Given the description of an element on the screen output the (x, y) to click on. 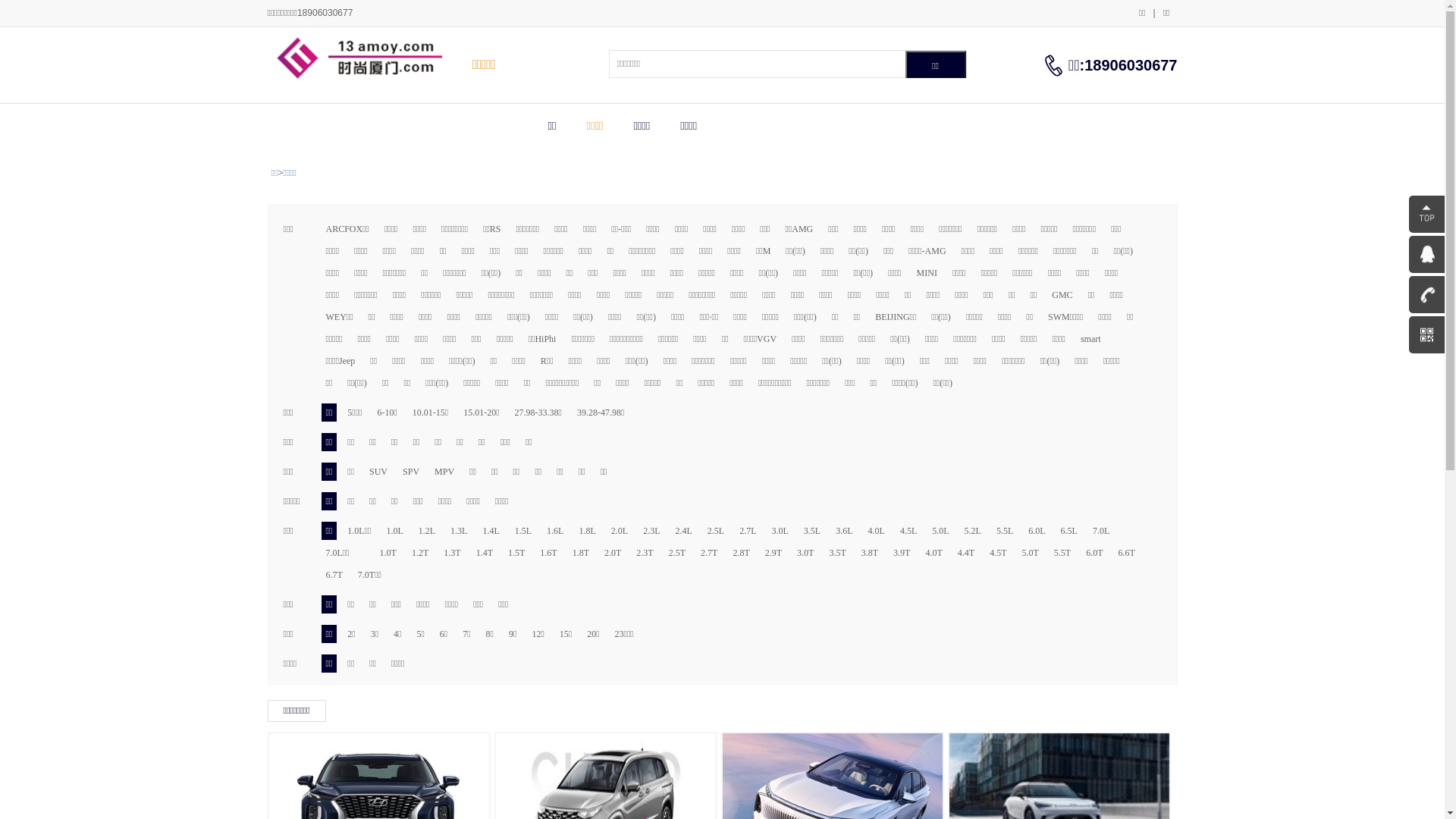
2.7T Element type: text (708, 552)
MPV Element type: text (443, 471)
4.4T Element type: text (966, 552)
1.4T Element type: text (484, 552)
6.6T Element type: text (1126, 552)
1.2T Element type: text (420, 552)
2.0L Element type: text (619, 530)
2.4L Element type: text (683, 530)
1.6L Element type: text (554, 530)
5.2L Element type: text (972, 530)
1.3T Element type: text (451, 552)
2.0T Element type: text (612, 552)
SPV Element type: text (410, 471)
6.0L Element type: text (1036, 530)
5.0T Element type: text (1029, 552)
3.0L Element type: text (780, 530)
SUV Element type: text (378, 471)
2.7L Element type: text (747, 530)
1.6T Element type: text (548, 552)
1.2L Element type: text (426, 530)
7.0L Element type: text (1100, 530)
1.8T Element type: text (580, 552)
2.3T Element type: text (644, 552)
GMC Element type: text (1061, 294)
3.8T Element type: text (869, 552)
3.0T Element type: text (805, 552)
3.5L Element type: text (812, 530)
2.5T Element type: text (677, 552)
3.5T Element type: text (837, 552)
1.5T Element type: text (516, 552)
2.8T Element type: text (740, 552)
2.9T Element type: text (773, 552)
4.0L Element type: text (876, 530)
5.0L Element type: text (940, 530)
4.0T Element type: text (933, 552)
6.5L Element type: text (1069, 530)
MINI Element type: text (926, 272)
1.5L Element type: text (523, 530)
6.0T Element type: text (1094, 552)
1.0L Element type: text (394, 530)
5.5L Element type: text (1004, 530)
1.4L Element type: text (490, 530)
1.3L Element type: text (458, 530)
6.7T Element type: text (334, 574)
2.5L Element type: text (715, 530)
5.5T Element type: text (1062, 552)
1.0T Element type: text (388, 552)
3.9T Element type: text (901, 552)
smart Element type: text (1090, 338)
4.5T Element type: text (997, 552)
2.3L Element type: text (651, 530)
3.6L Element type: text (843, 530)
1.8L Element type: text (586, 530)
4.5L Element type: text (908, 530)
